Given the description of an element on the screen output the (x, y) to click on. 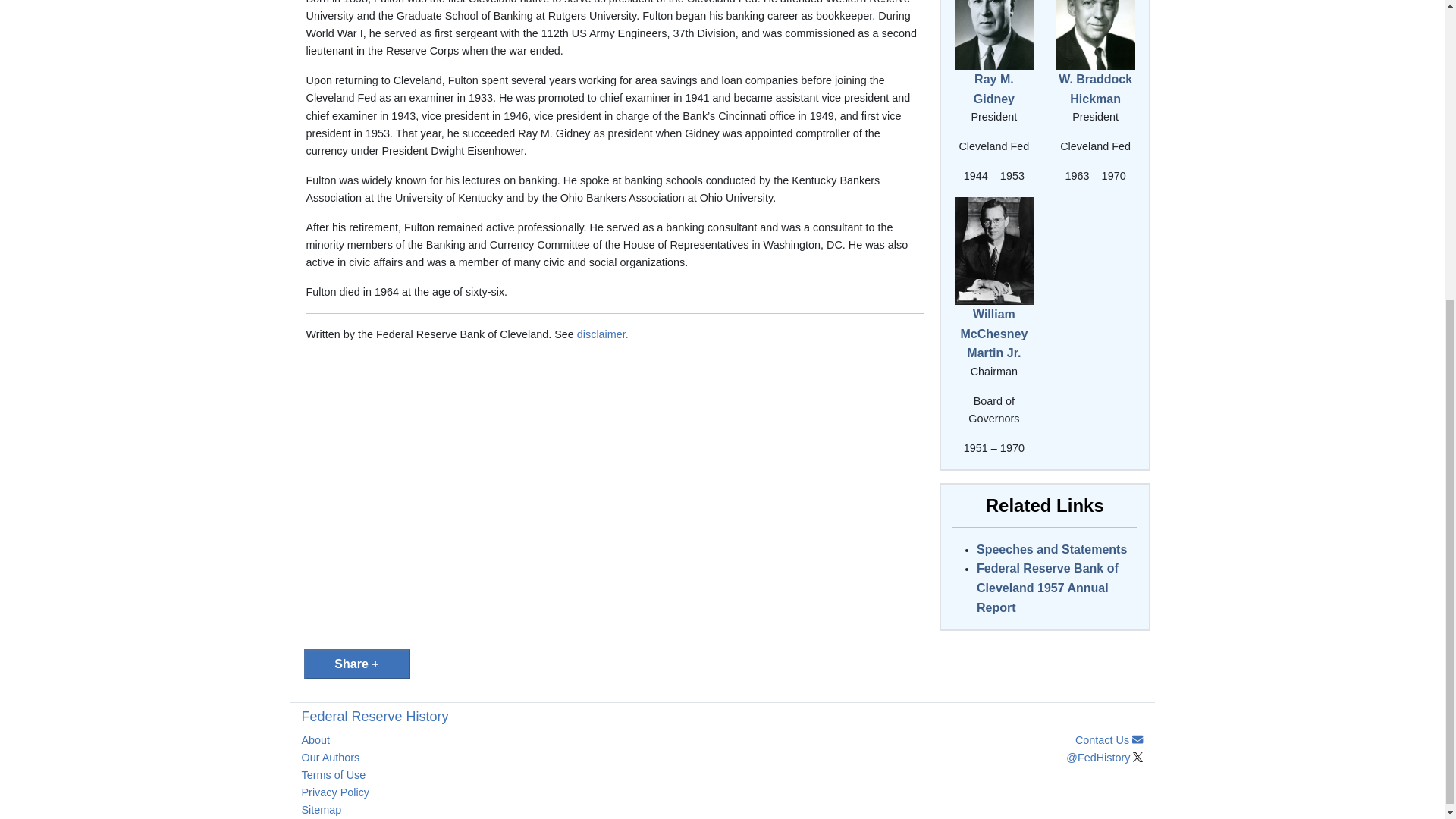
Ray M. Gidney  (994, 34)
Ray M. Gidney  (994, 15)
disclaimer. (602, 334)
W. Braddock Hickman  (1095, 88)
W. Braddock Hickman  (1096, 34)
Share this page (355, 664)
William McChesney Martin Jr.  (994, 249)
William McChesney Martin Jr.  (993, 333)
W. Braddock Hickman  (1096, 15)
Ray M. Gidney  (994, 88)
